Given the description of an element on the screen output the (x, y) to click on. 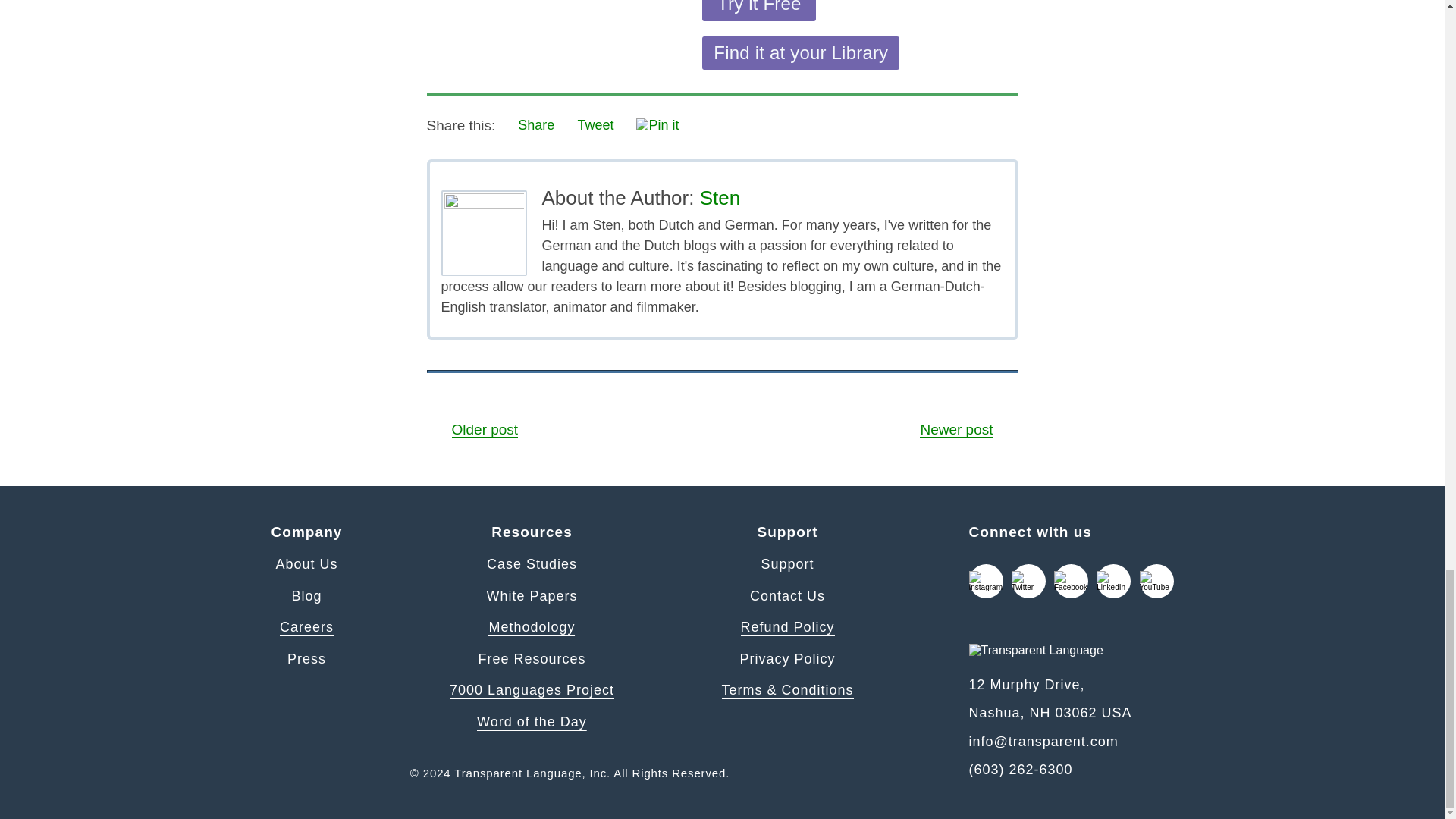
Facebook (1070, 581)
LinkedIn (1113, 581)
Twitter (1028, 581)
Instagram (986, 581)
YouTube (1155, 581)
